Given the description of an element on the screen output the (x, y) to click on. 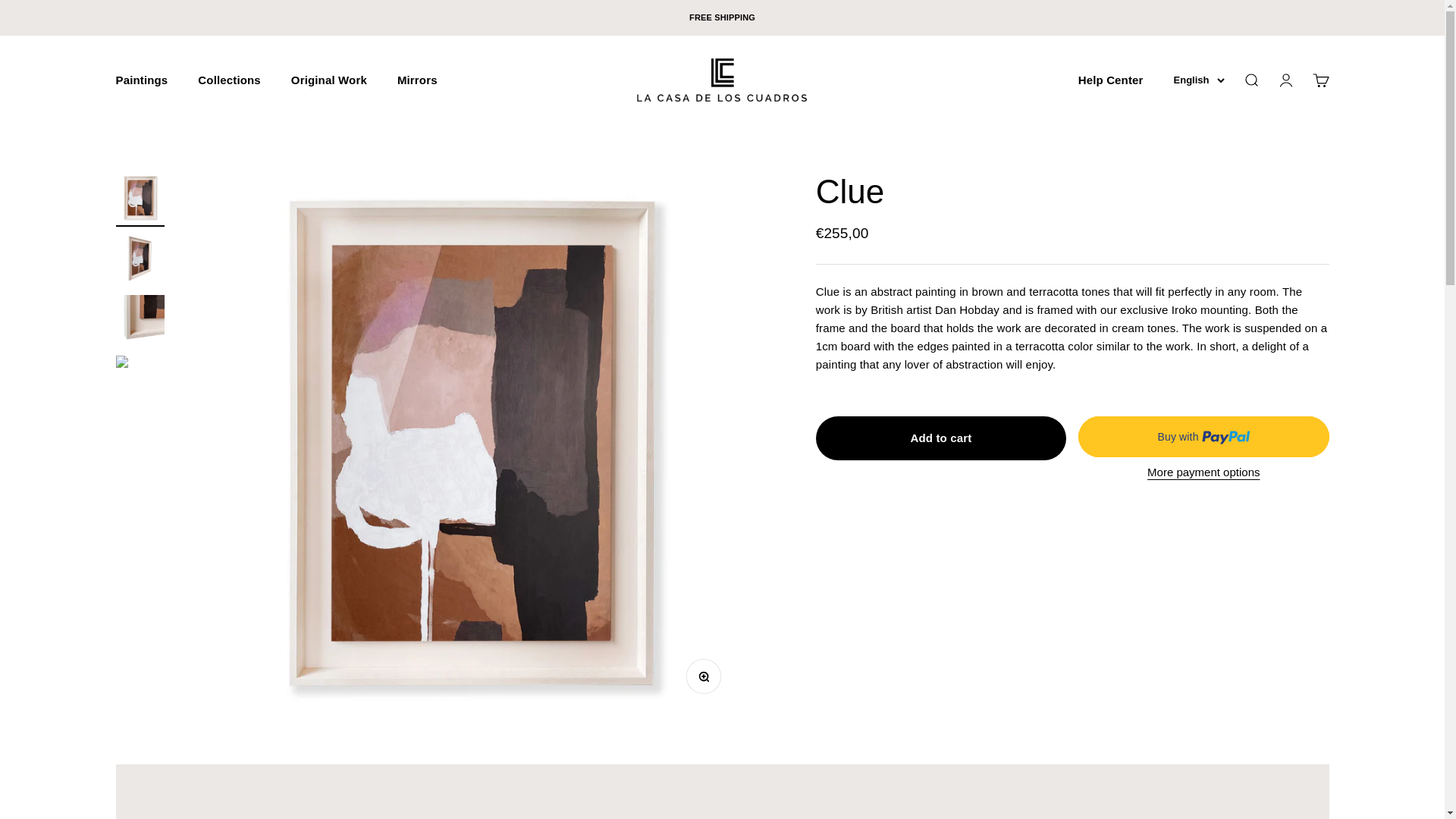
Zoom (707, 680)
Original Work (328, 79)
Help Center (1110, 79)
Open search (1250, 80)
Open account page (1285, 80)
Mirrors (1319, 80)
English (417, 79)
Collections (1198, 79)
La Casa de los Cuadros (229, 79)
